Given the description of an element on the screen output the (x, y) to click on. 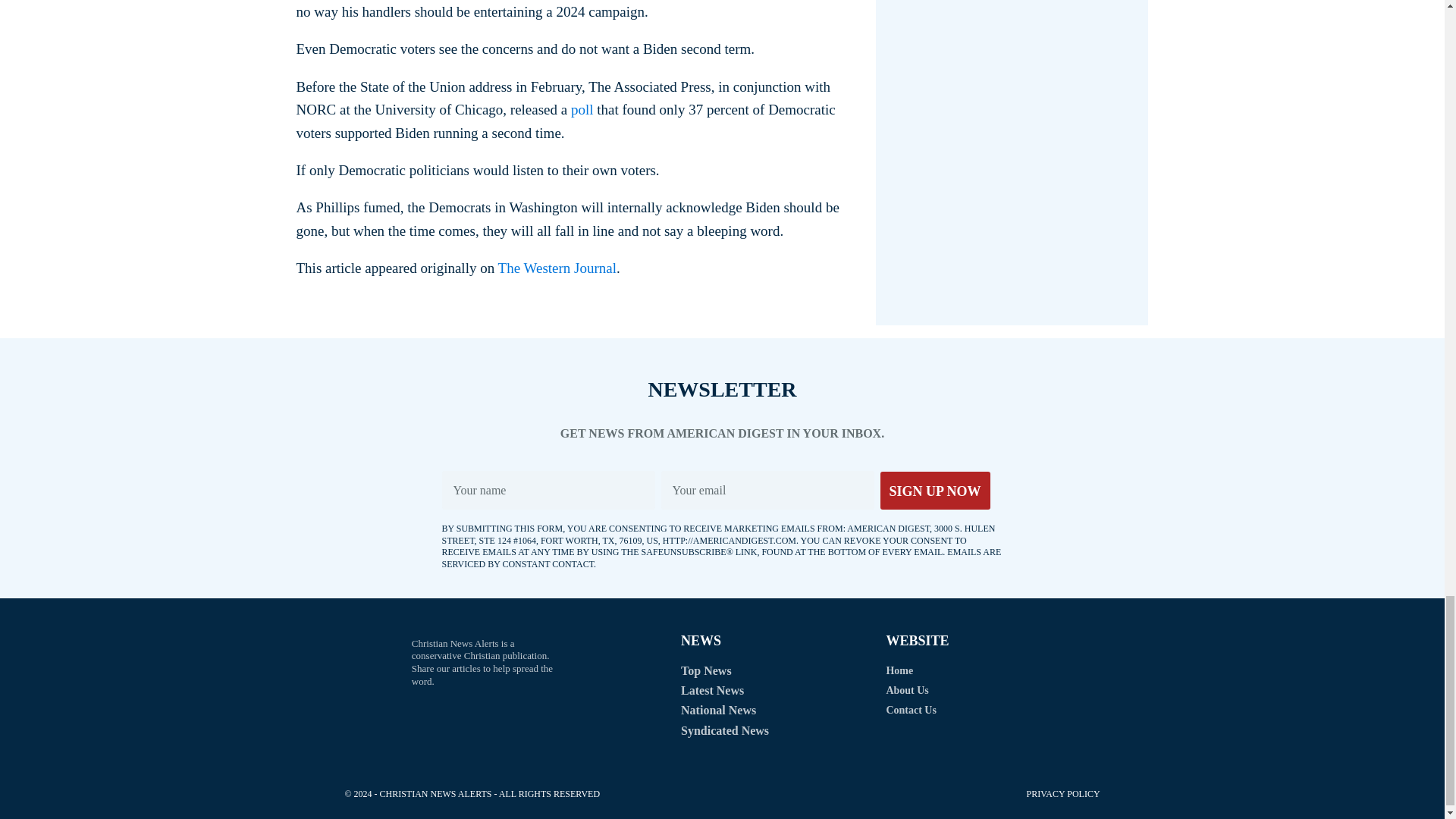
The Western Journal (556, 268)
poll (582, 109)
SIGN UP NOW (934, 490)
